Given the description of an element on the screen output the (x, y) to click on. 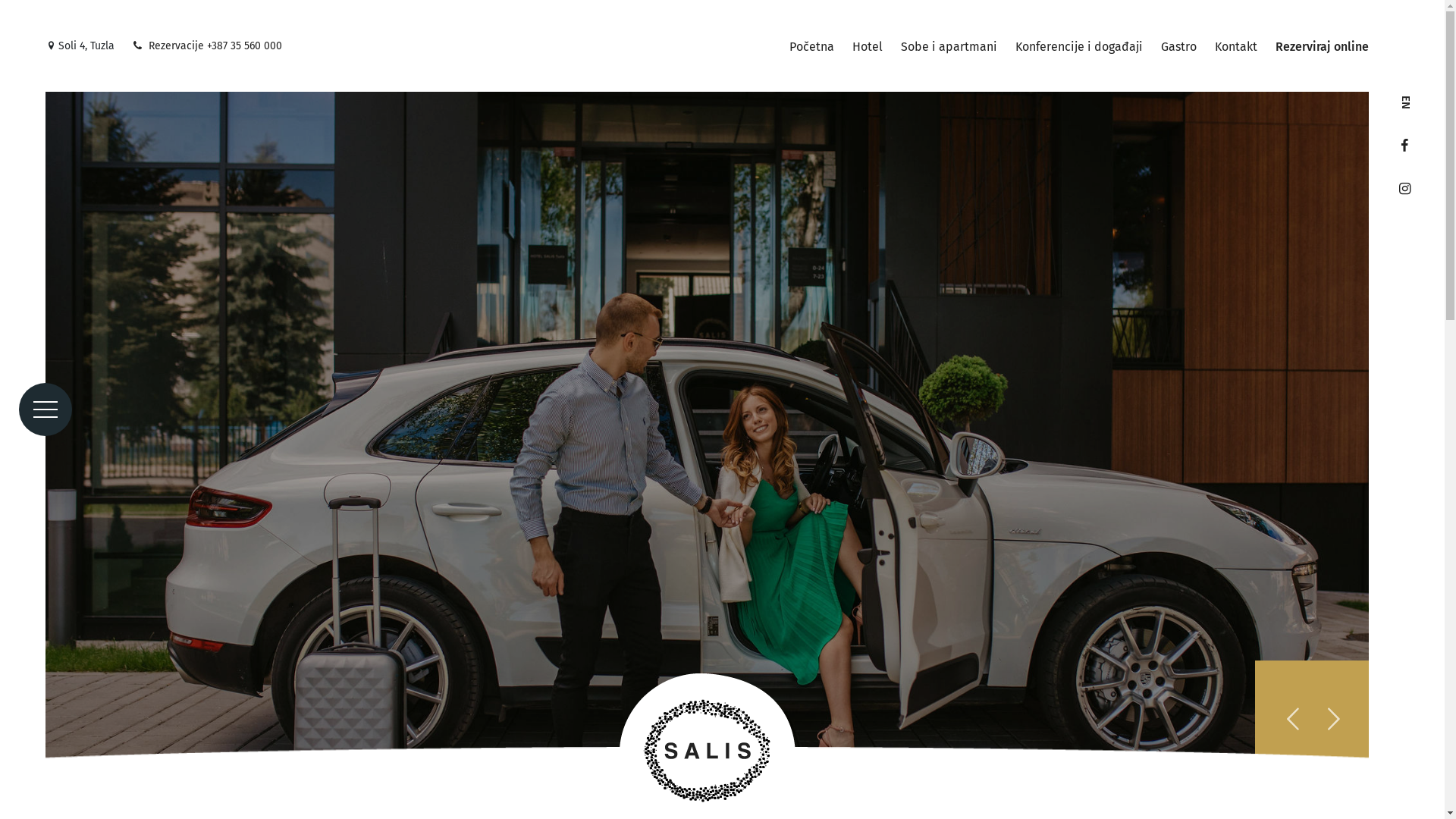
EN Element type: text (1405, 103)
Rezerviraj online Element type: text (1321, 46)
Kontakt Element type: text (1235, 46)
Hotel Element type: text (867, 46)
Rezervacije +387 35 560 000 Element type: text (207, 45)
Sobe i apartmani Element type: text (948, 46)
Gastro Element type: text (1178, 46)
